Given the description of an element on the screen output the (x, y) to click on. 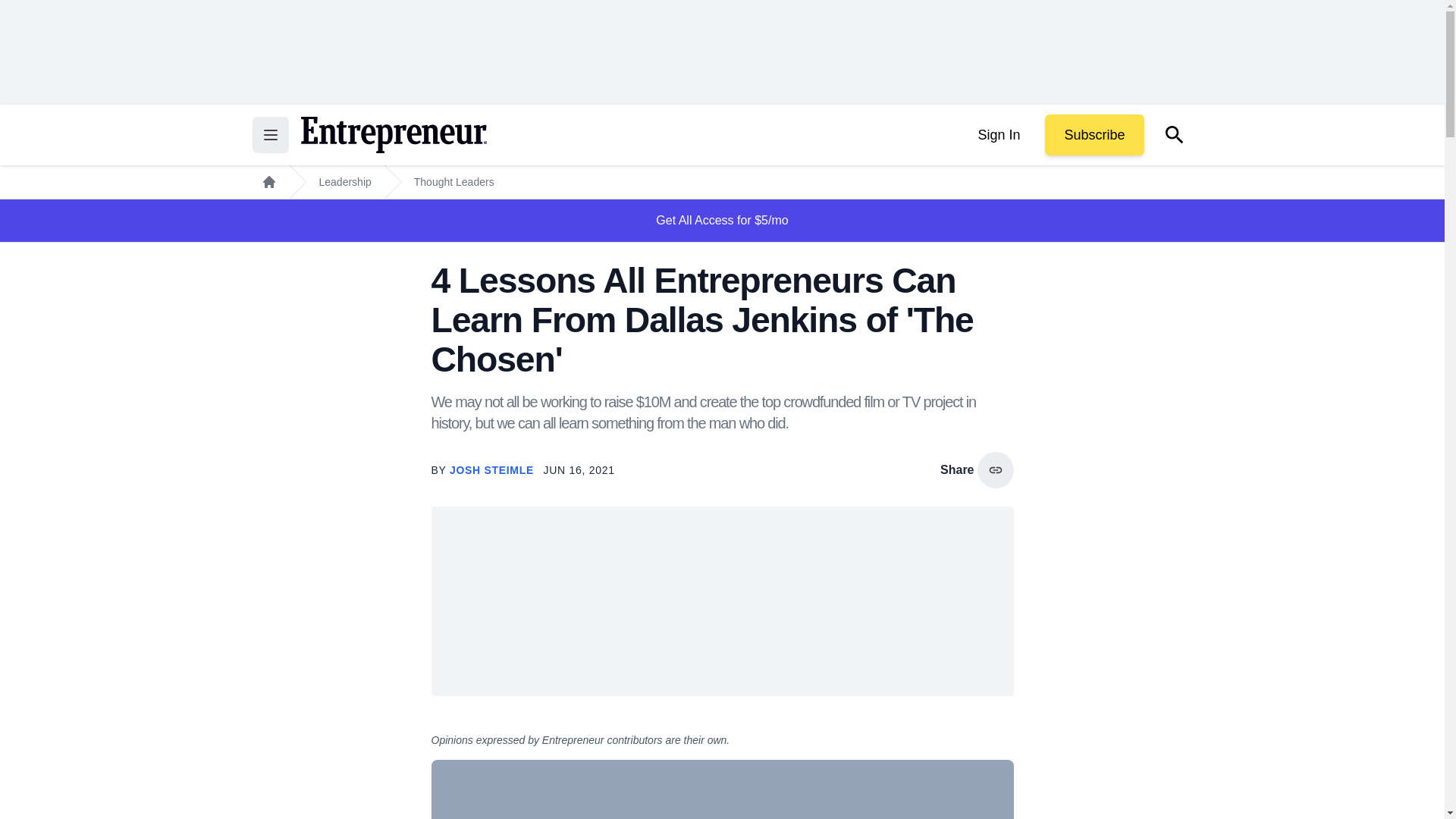
Return to the home page (392, 135)
Subscribe (1093, 134)
copy (994, 470)
Sign In (998, 134)
